Given the description of an element on the screen output the (x, y) to click on. 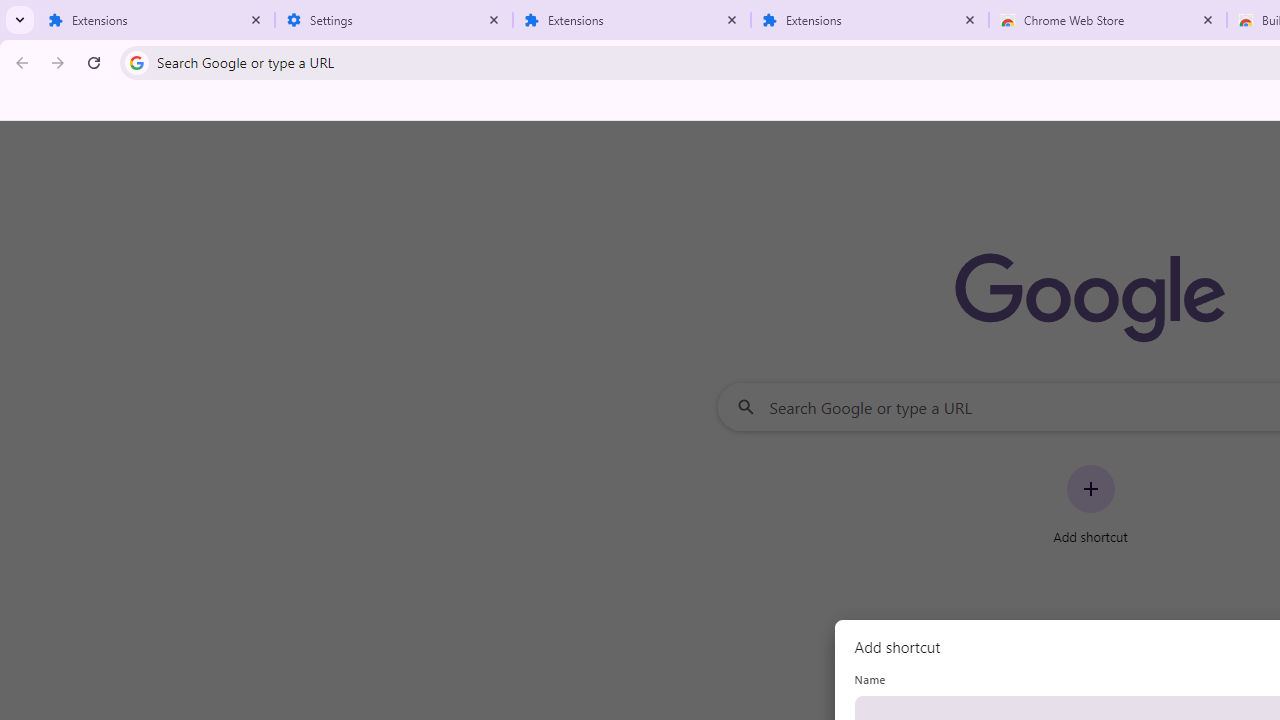
Settings (394, 20)
Chrome Web Store (1108, 20)
Extensions (870, 20)
Extensions (156, 20)
Extensions (632, 20)
